Given the description of an element on the screen output the (x, y) to click on. 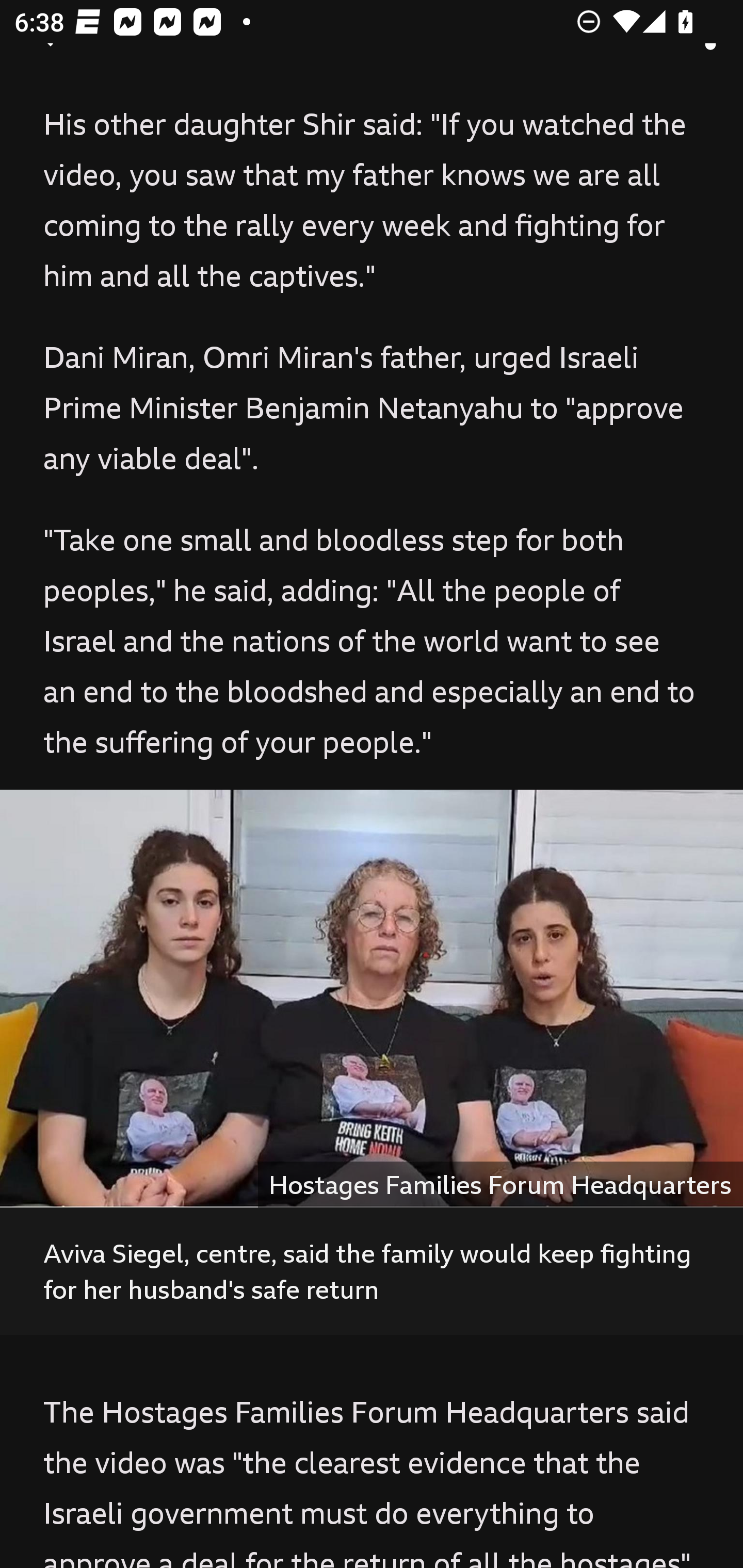
Siegel family (371, 998)
